Given the description of an element on the screen output the (x, y) to click on. 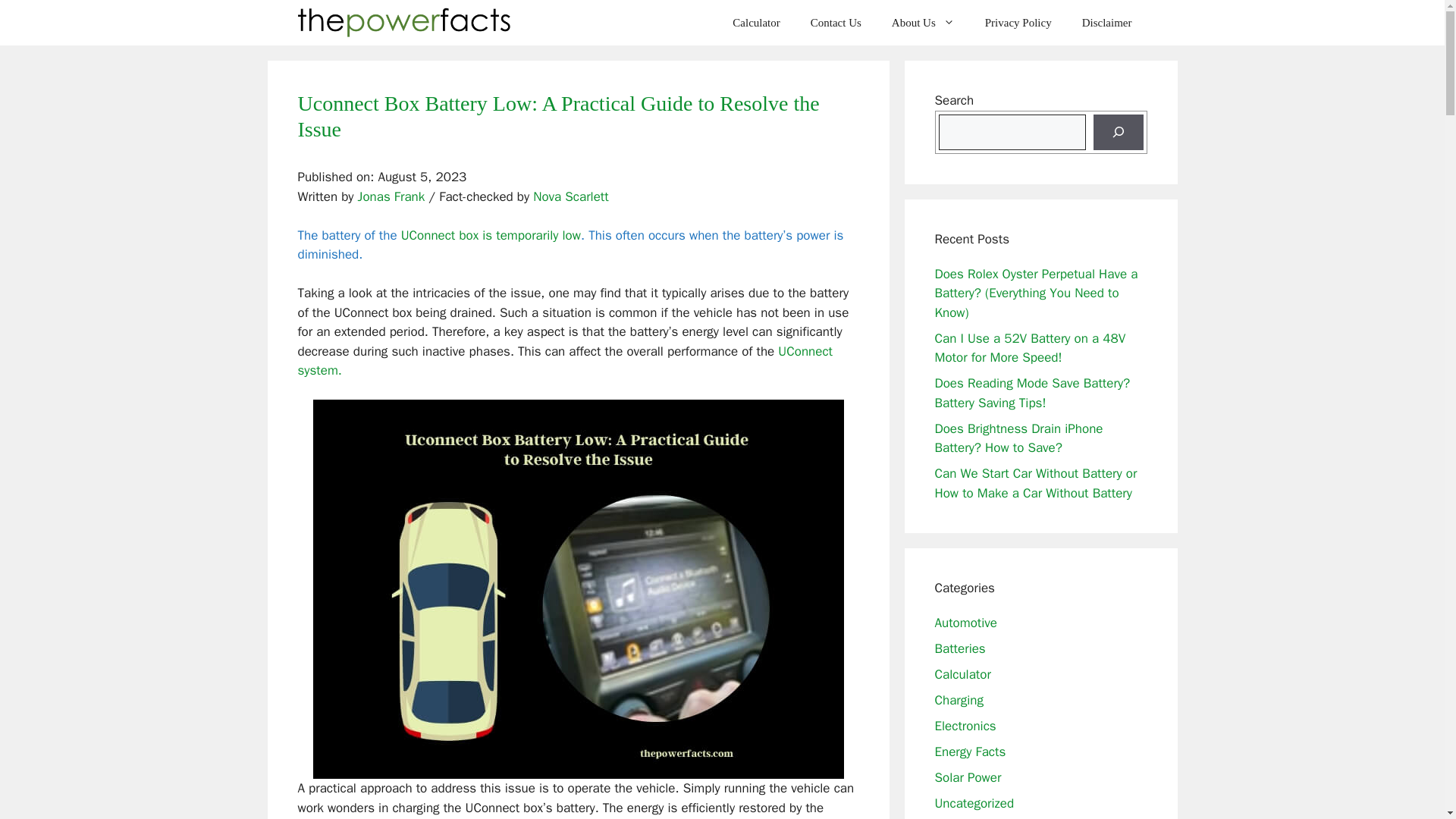
Calculator (962, 673)
Nova Scarlett (570, 196)
Solar Power (967, 776)
Contact Us (835, 22)
UConnect box is temporarily low (490, 235)
Disclaimer (1107, 22)
Energy Facts (970, 750)
Automotive (965, 621)
The Power Facts (404, 22)
Jonas Frank (391, 196)
